Given the description of an element on the screen output the (x, y) to click on. 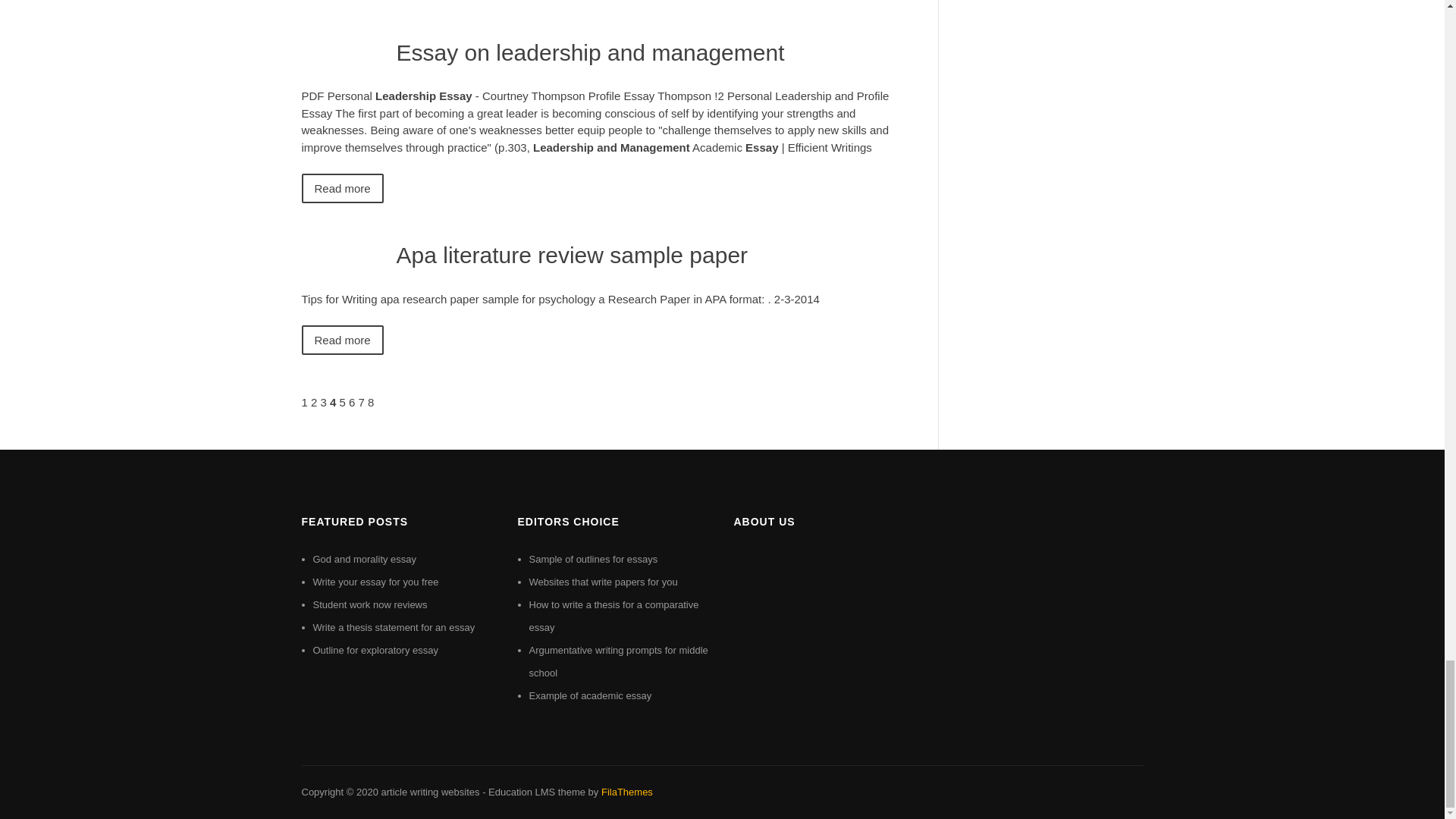
article writing websites (429, 791)
